Given the description of an element on the screen output the (x, y) to click on. 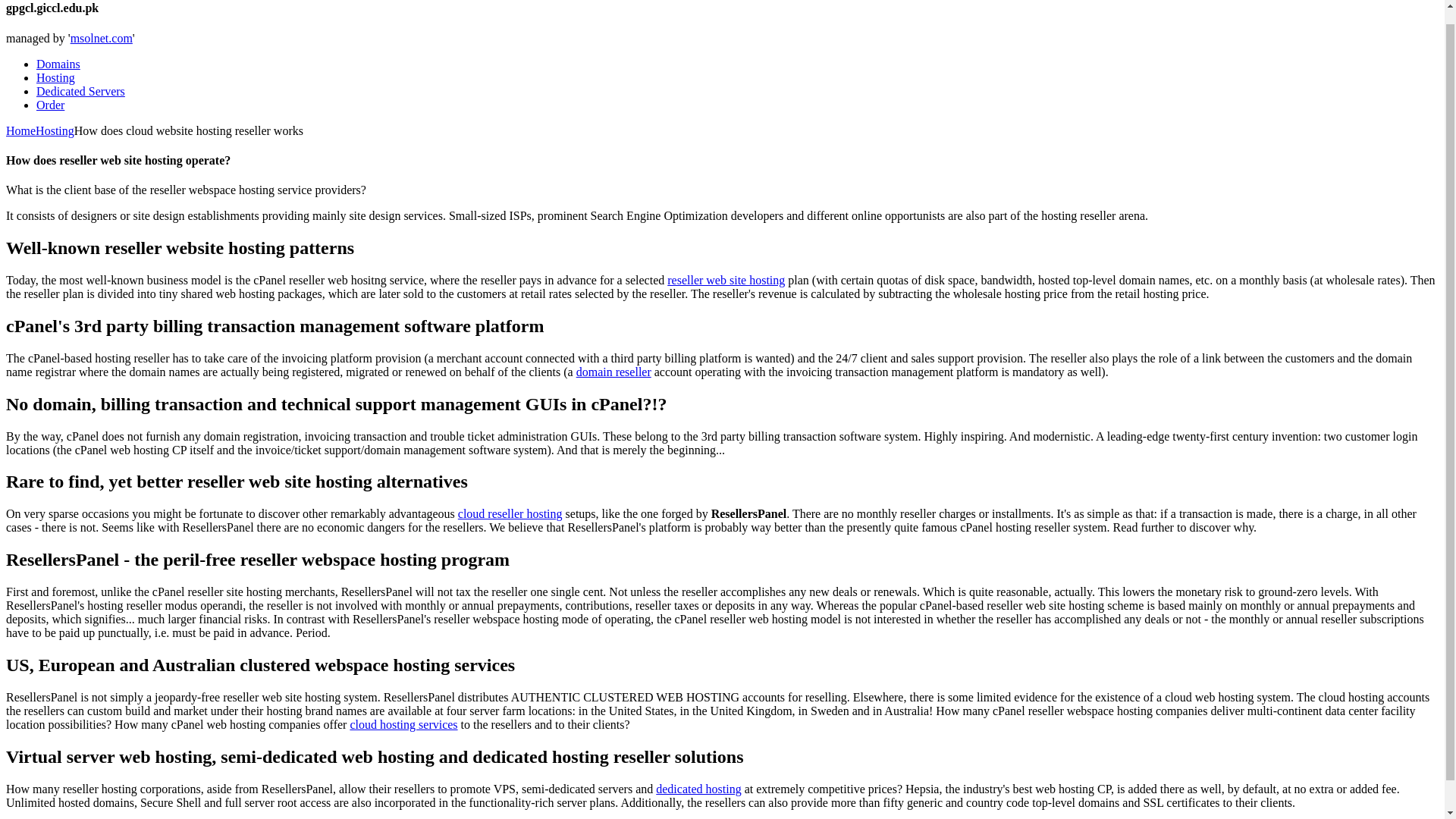
msolnet.com (100, 38)
Order (50, 104)
cloud reseller hosting (510, 513)
cloud hosting services (403, 724)
reseller web site hosting (725, 279)
Domains (58, 63)
Home (19, 130)
Dedicated Servers (80, 91)
domain reseller (613, 371)
Hosting (55, 77)
